Given the description of an element on the screen output the (x, y) to click on. 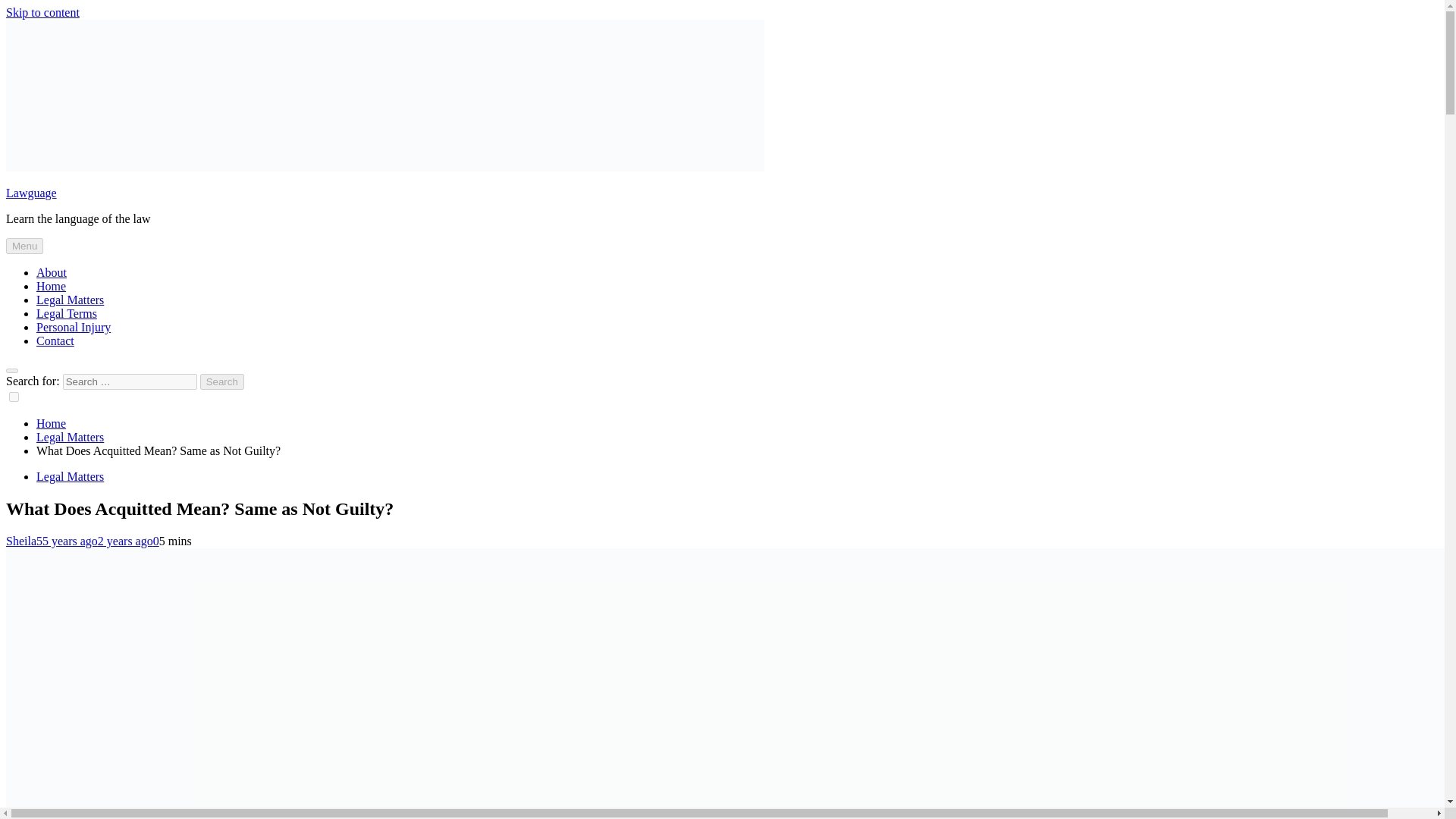
Search (222, 381)
About (51, 272)
Legal Terms (66, 313)
55 years ago2 years ago (94, 540)
Personal Injury (73, 327)
Search (222, 381)
Contact (55, 340)
Sheila (20, 540)
Home (50, 422)
Legal Matters (69, 436)
